Given the description of an element on the screen output the (x, y) to click on. 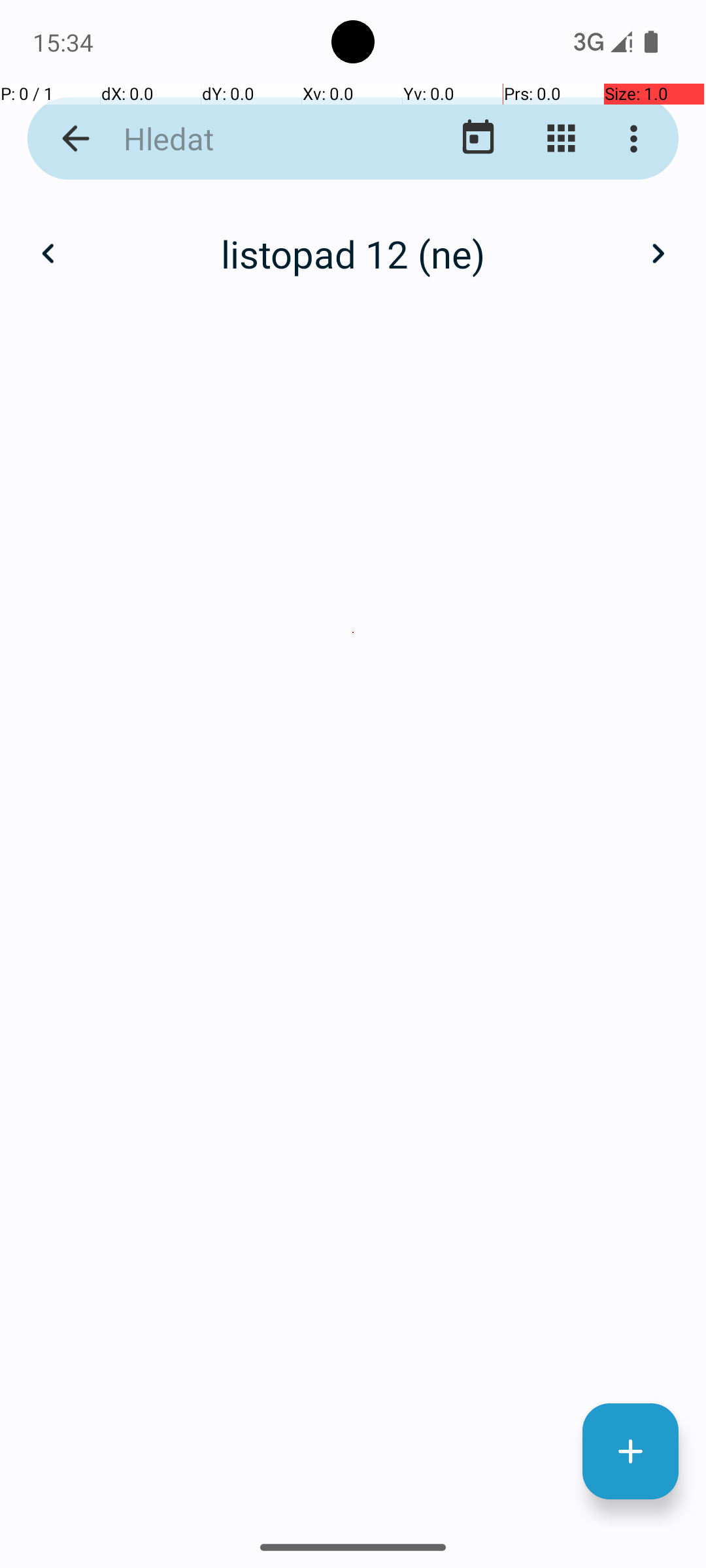
Přejít na dnešní datum Element type: android.widget.Button (477, 138)
listopad Element type: android.widget.TextView (352, 239)
listopad 12 (ne) Element type: android.widget.TextView (352, 253)
